Given the description of an element on the screen output the (x, y) to click on. 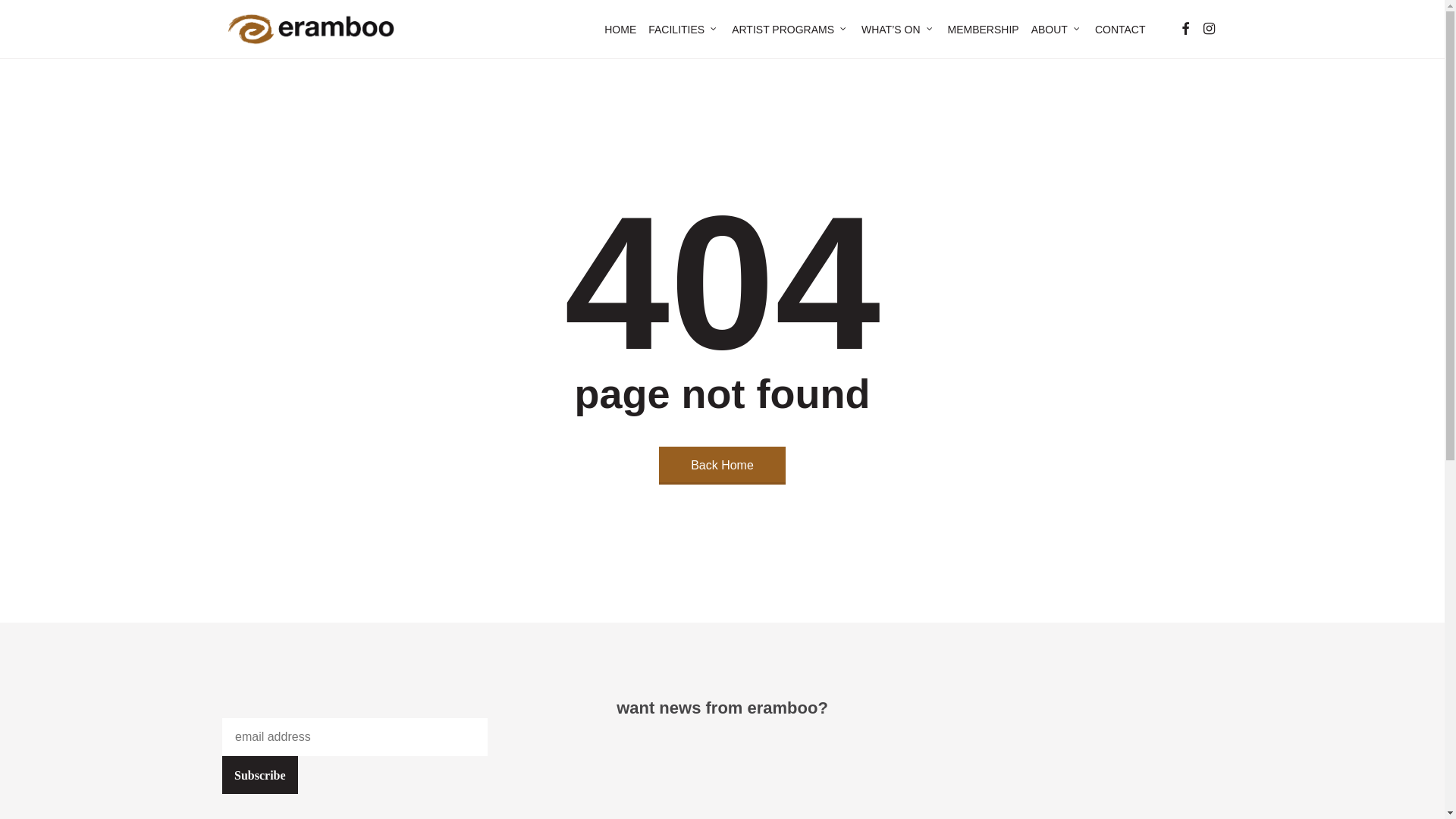
Back Home Element type: text (721, 465)
HOME Element type: text (620, 29)
CONTACT Element type: text (1120, 29)
Subscribe Element type: text (260, 774)
FACILITIES Element type: text (683, 29)
ARTIST PROGRAMS Element type: text (790, 29)
ABOUT Element type: text (1056, 29)
MEMBERSHIP Element type: text (983, 29)
INSTAGRAM Element type: text (1208, 28)
FACEBOOK Element type: text (1184, 28)
